Given the description of an element on the screen output the (x, y) to click on. 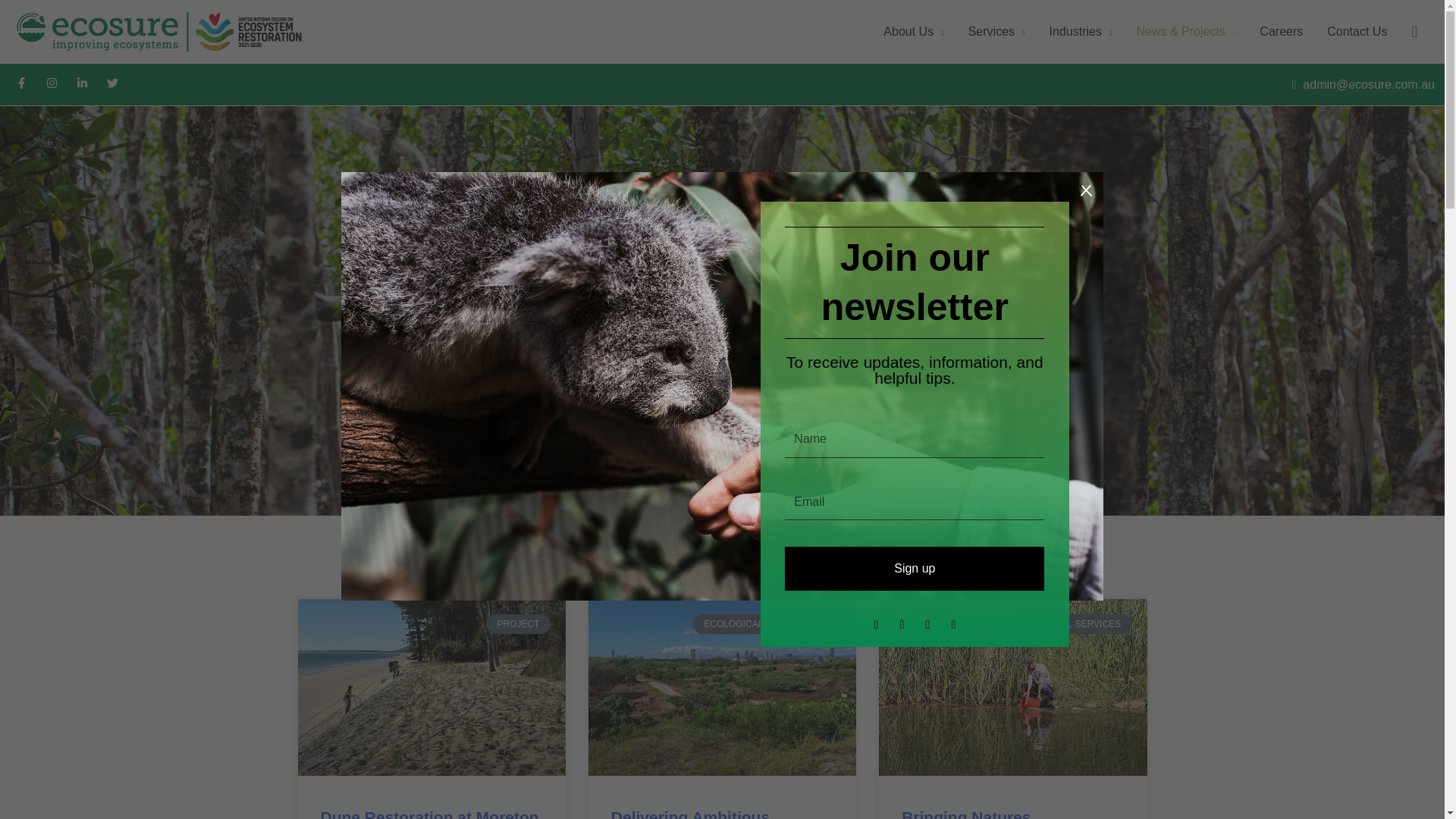
Projects 6 (1011, 686)
Projects 2 (428, 686)
About Us (912, 31)
Services (996, 31)
Projects 4 (719, 686)
